Given the description of an element on the screen output the (x, y) to click on. 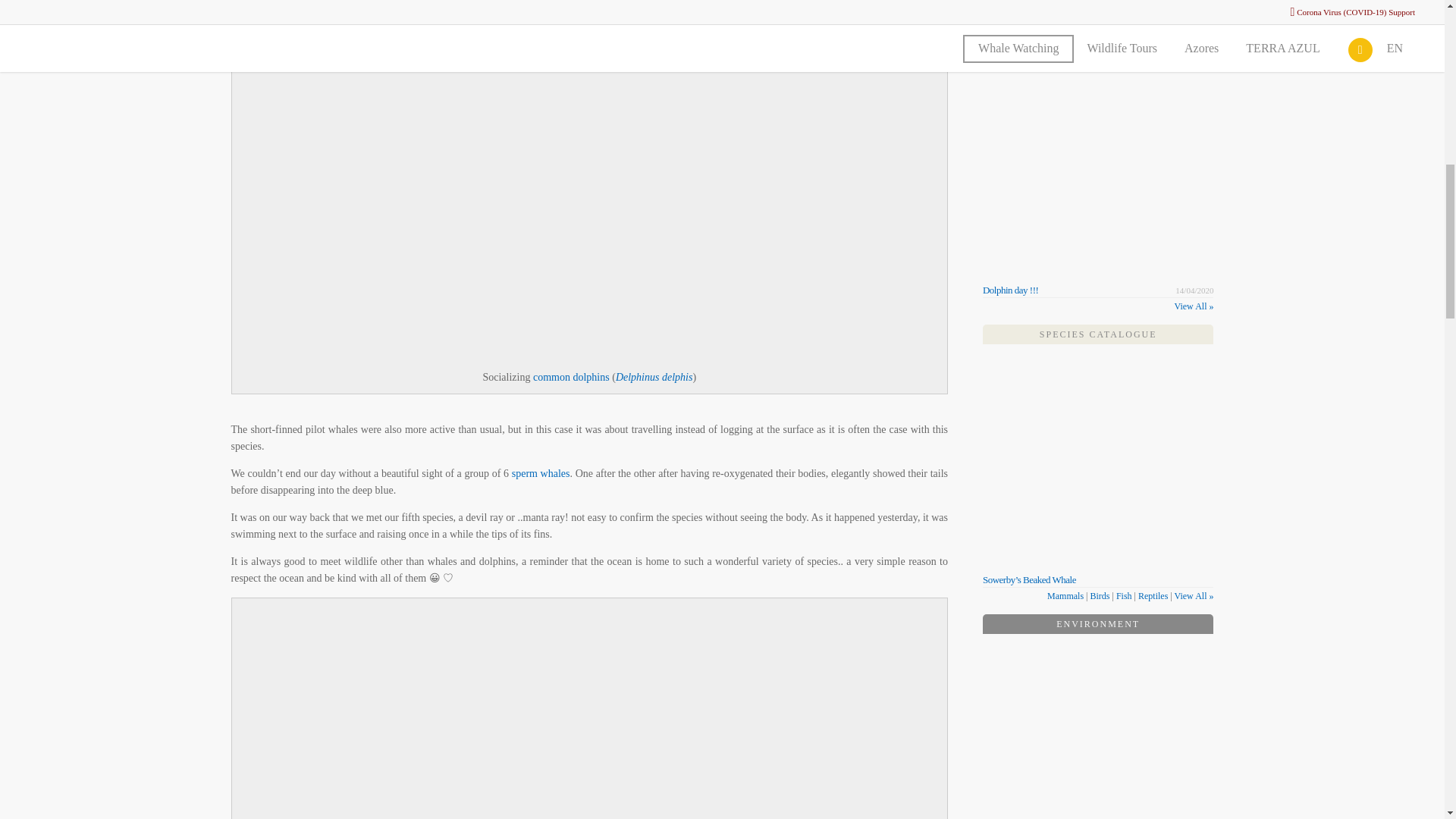
Permalink to Happy World Turtle Day! (1028, 47)
Permalink to Dolphin day !!! (1010, 289)
Species Catalogue (1098, 334)
Environment (1098, 624)
